Given the description of an element on the screen output the (x, y) to click on. 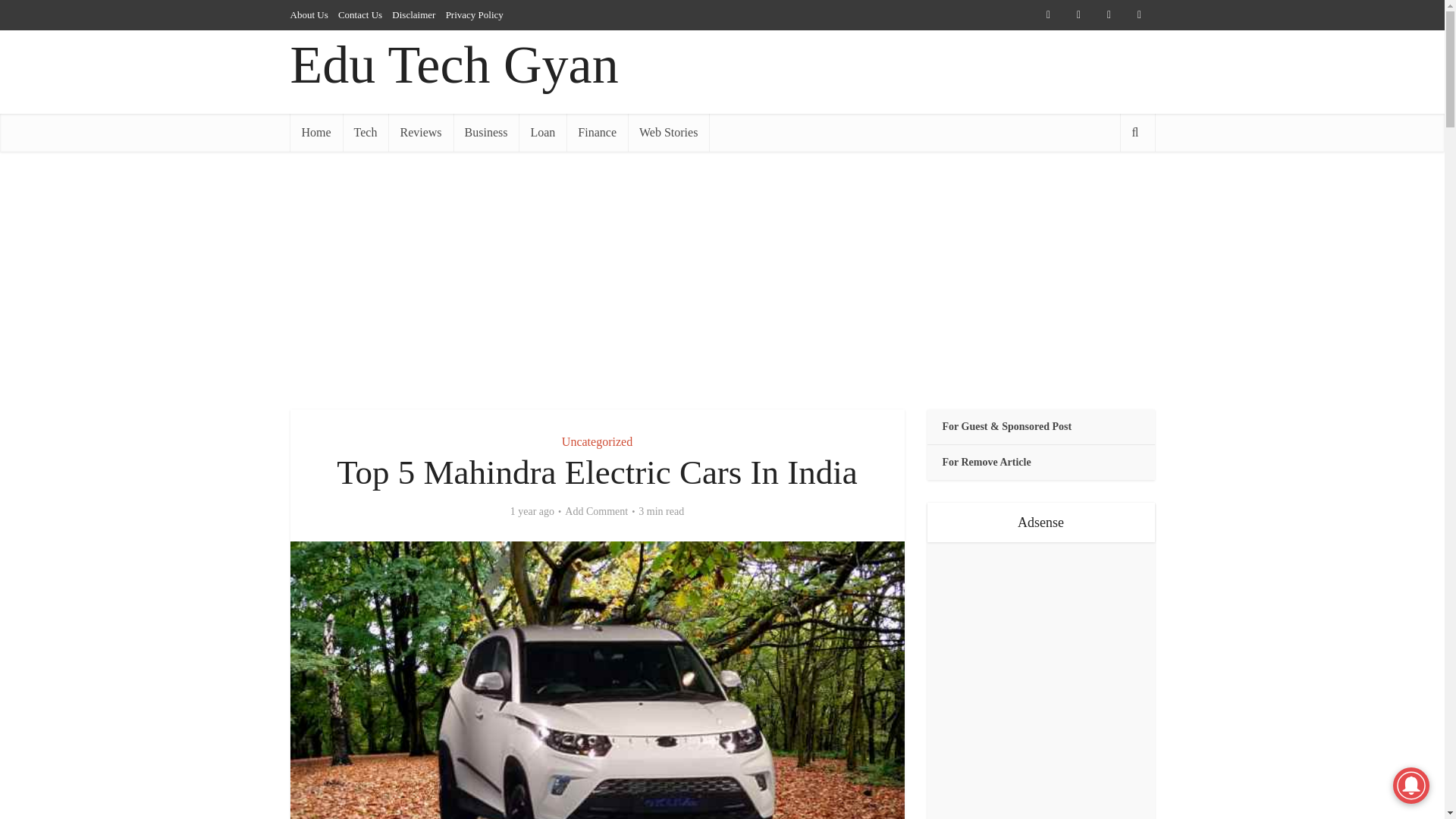
Home (315, 132)
Finance (596, 132)
Tech (365, 132)
Privacy Policy (474, 14)
Edu Tech Gyan (453, 64)
Disclaimer (413, 14)
Uncategorized (596, 440)
Advertisement (721, 280)
Business (485, 132)
Contact Us (359, 14)
Loan (542, 132)
About Us (308, 14)
Web Stories (668, 132)
Reviews (420, 132)
Add Comment (595, 511)
